Given the description of an element on the screen output the (x, y) to click on. 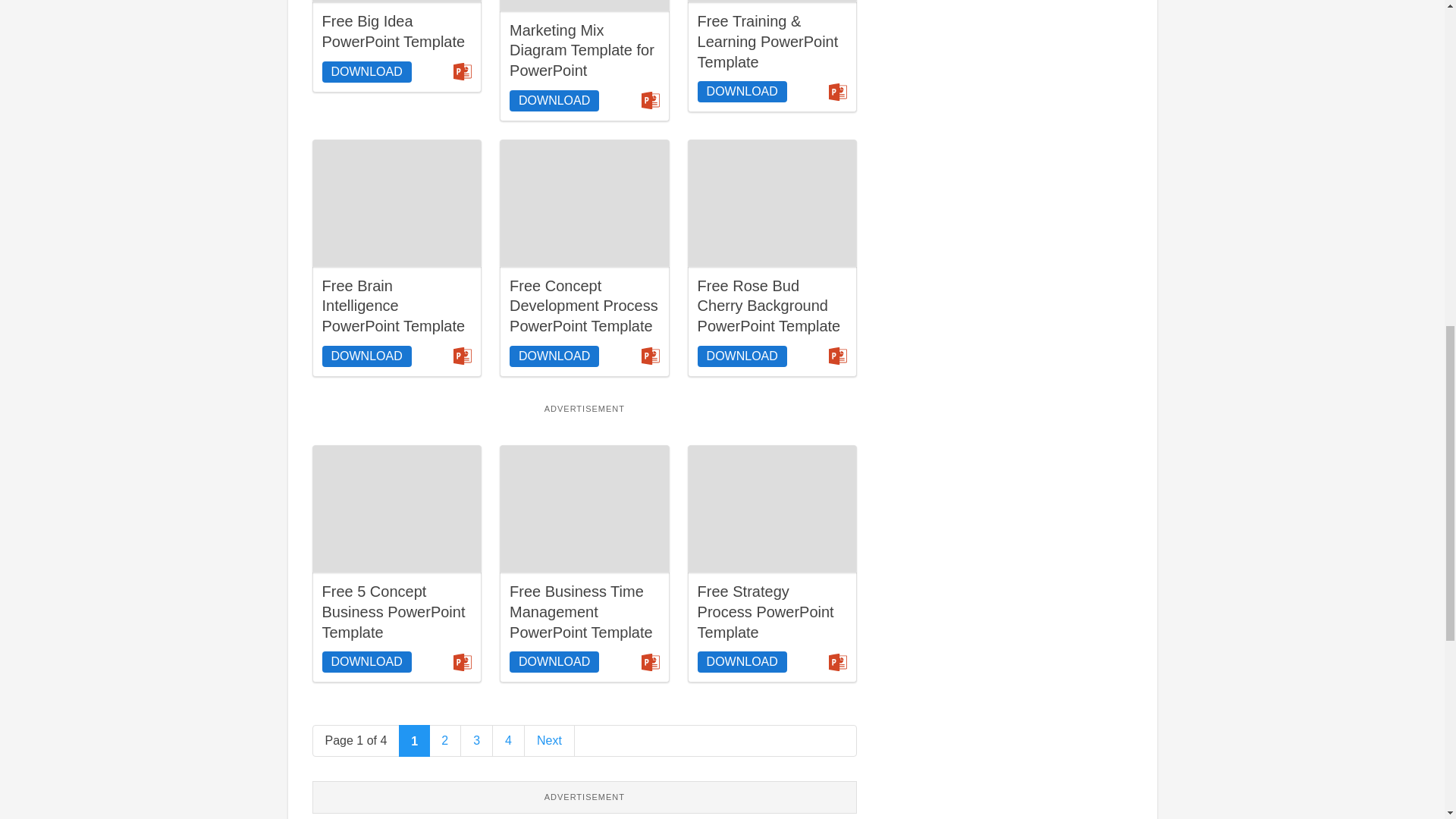
Free Concept Development Process PowerPoint Template (584, 202)
Free Big Idea PowerPoint Template (397, 1)
DOWNLOAD (742, 91)
Marketing Mix Diagram Template for PowerPoint (581, 50)
Free Rose Bud Cherry Background PowerPoint Template (769, 305)
Free Strategy Process PowerPoint Template (772, 508)
DOWNLOAD (365, 71)
Free 5 Concept Business PowerPoint Template (392, 611)
DOWNLOAD (553, 355)
Page 2 (445, 740)
